Given the description of an element on the screen output the (x, y) to click on. 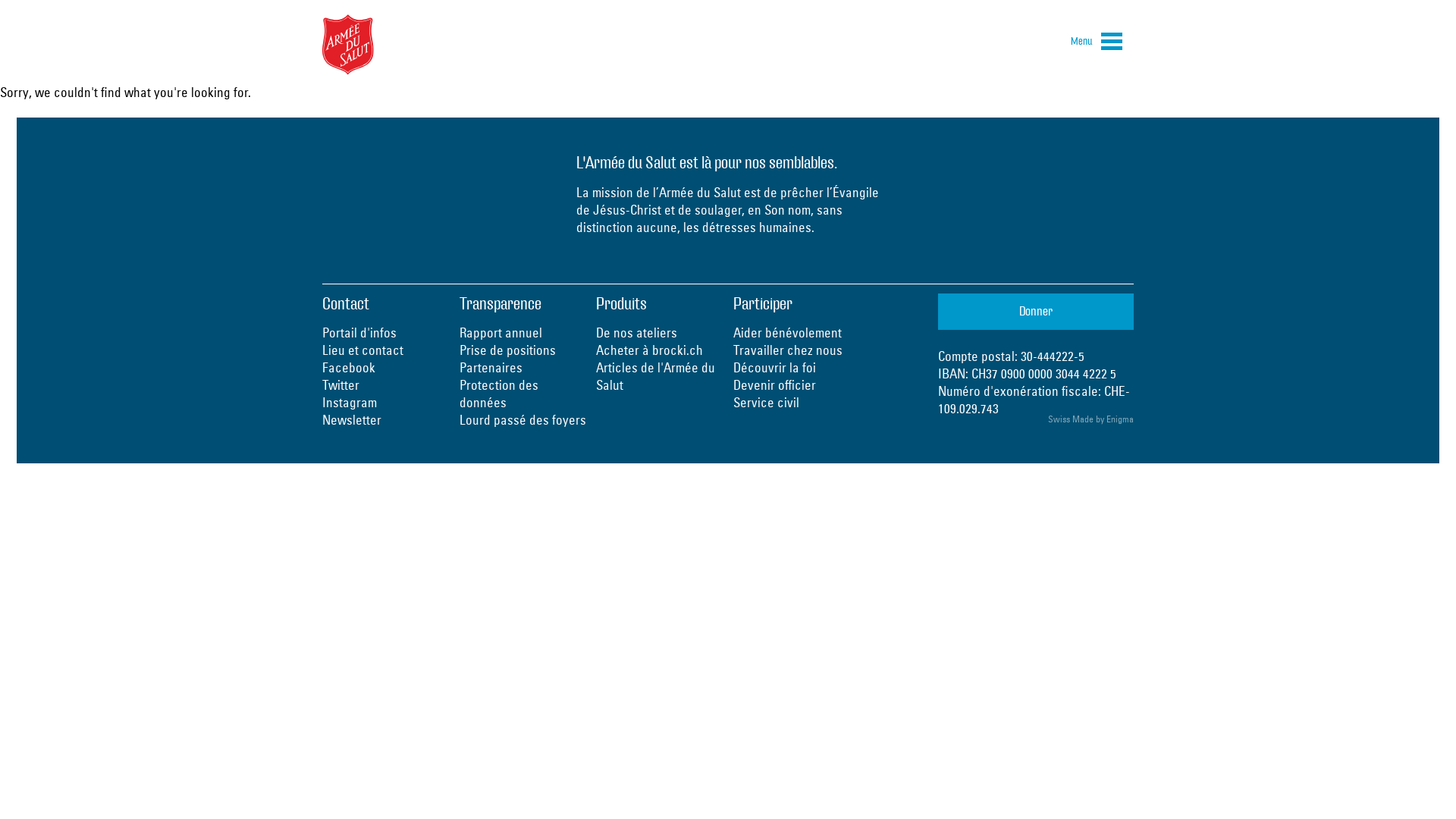
De nos ateliers Element type: text (636, 332)
Facebook Element type: text (348, 367)
Menu Element type: text (1096, 44)
Newsletter Element type: text (351, 419)
Travailler chez nous Element type: text (786, 349)
Partenaires Element type: text (490, 367)
Donner Element type: text (1035, 311)
Instagram Element type: text (349, 402)
Devenir officier Element type: text (773, 384)
Twitter Element type: text (340, 384)
Lieu et contact Element type: text (362, 349)
Service civil Element type: text (765, 402)
Prise de positions Element type: text (507, 349)
Swiss Made by Enigma Element type: text (1090, 418)
Rapport annuel Element type: text (500, 332)
Portail d'infos Element type: text (359, 332)
